Given the description of an element on the screen output the (x, y) to click on. 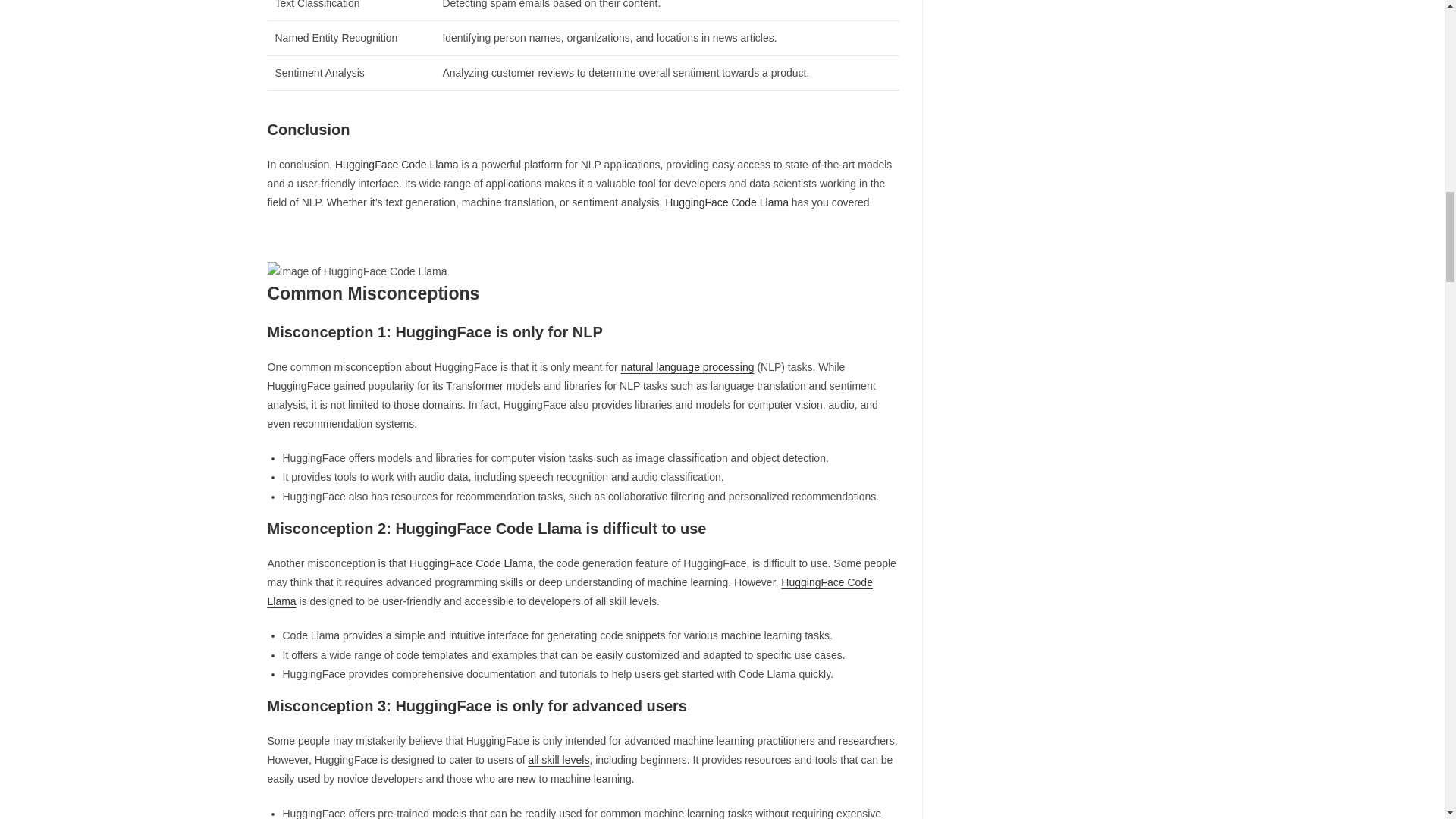
HuggingFace Code Llama (470, 563)
all skill levels (558, 759)
natural language processing (687, 367)
HuggingFace Code Llama (727, 202)
HuggingFace Code Llama (396, 164)
HuggingFace Code Llama (356, 271)
HuggingFace Code Llama (569, 591)
